Given the description of an element on the screen output the (x, y) to click on. 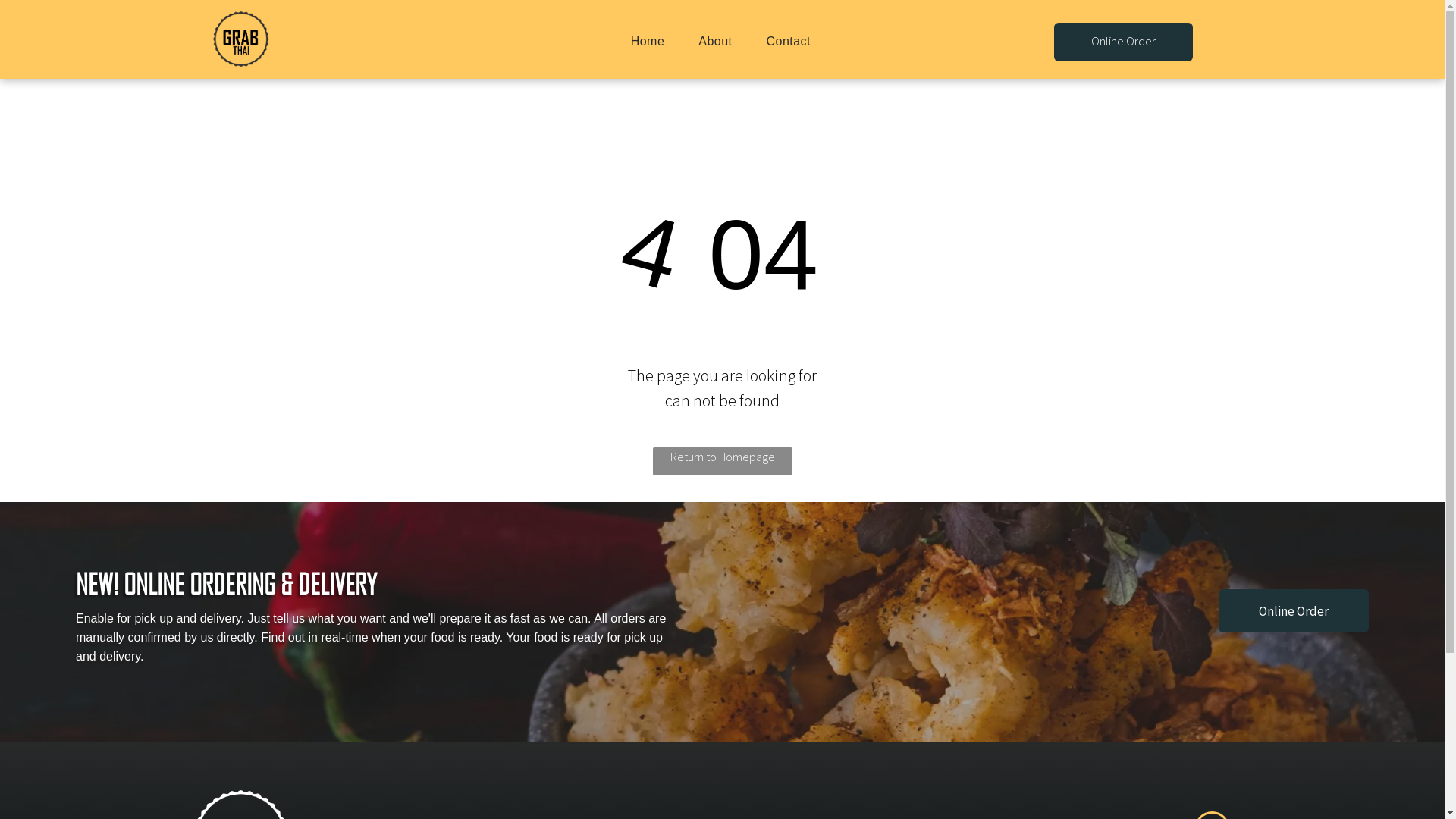
Home Element type: text (647, 40)
About Element type: text (714, 40)
Contact Element type: text (787, 40)
Return to Homepage Element type: text (721, 461)
